Given the description of an element on the screen output the (x, y) to click on. 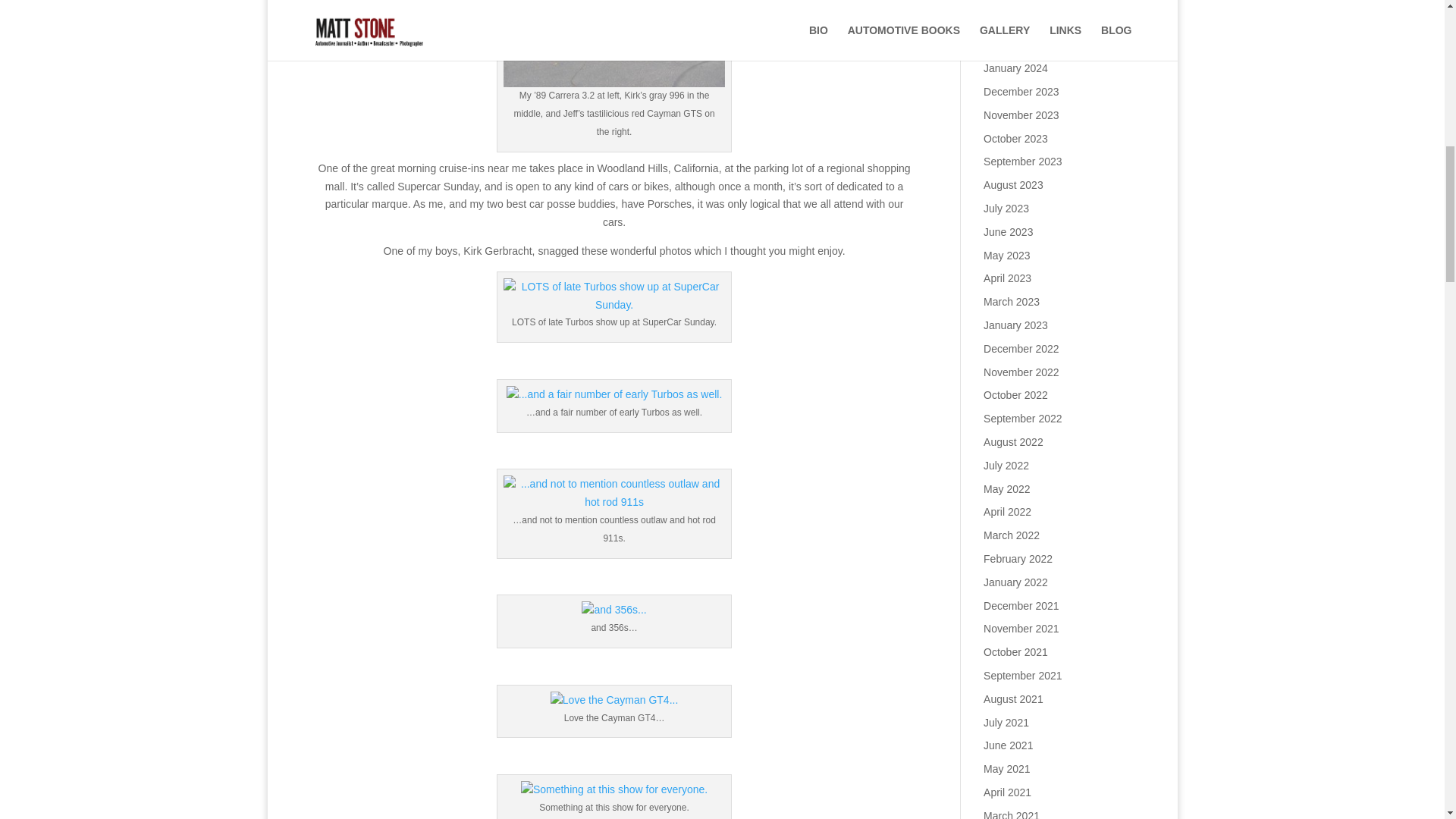
January 2023 (1016, 325)
June 2024 (1008, 2)
December 2022 (1021, 348)
June 2023 (1008, 232)
April 2023 (1007, 277)
July 2023 (1006, 208)
October 2023 (1016, 138)
December 2023 (1021, 91)
March 2024 (1011, 44)
August 2023 (1013, 184)
March 2023 (1011, 301)
May 2024 (1006, 21)
May 2023 (1006, 255)
September 2023 (1023, 161)
January 2024 (1016, 68)
